Given the description of an element on the screen output the (x, y) to click on. 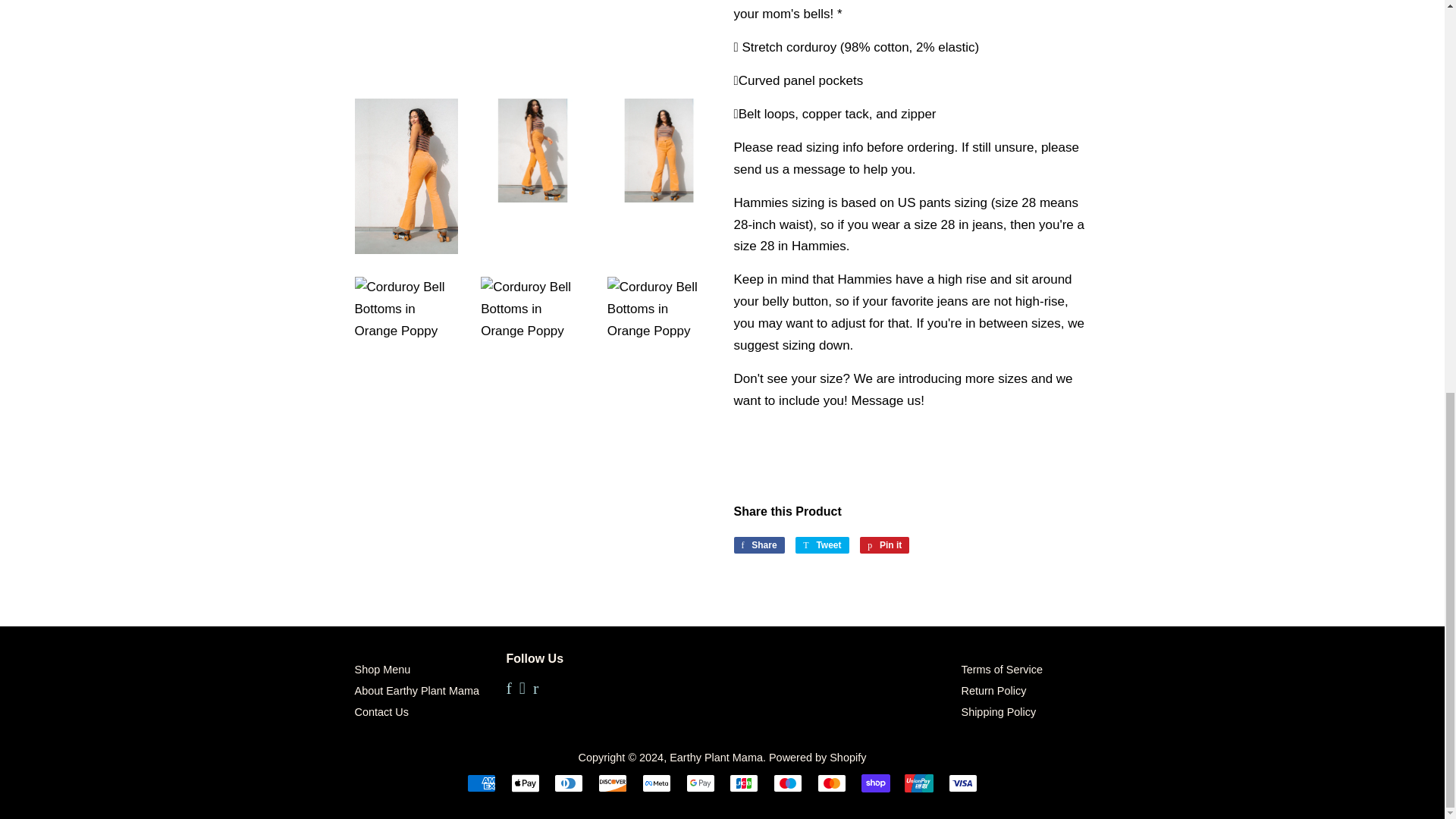
Tweet on Twitter (821, 545)
Apple Pay (525, 782)
Union Pay (918, 782)
Visa (962, 782)
Pin on Pinterest (884, 545)
Mastercard (830, 782)
Diners Club (568, 782)
Shop Pay (875, 782)
Share on Facebook (758, 545)
Maestro (787, 782)
Discover (612, 782)
Google Pay (699, 782)
Meta Pay (656, 782)
American Express (481, 782)
JCB (743, 782)
